Given the description of an element on the screen output the (x, y) to click on. 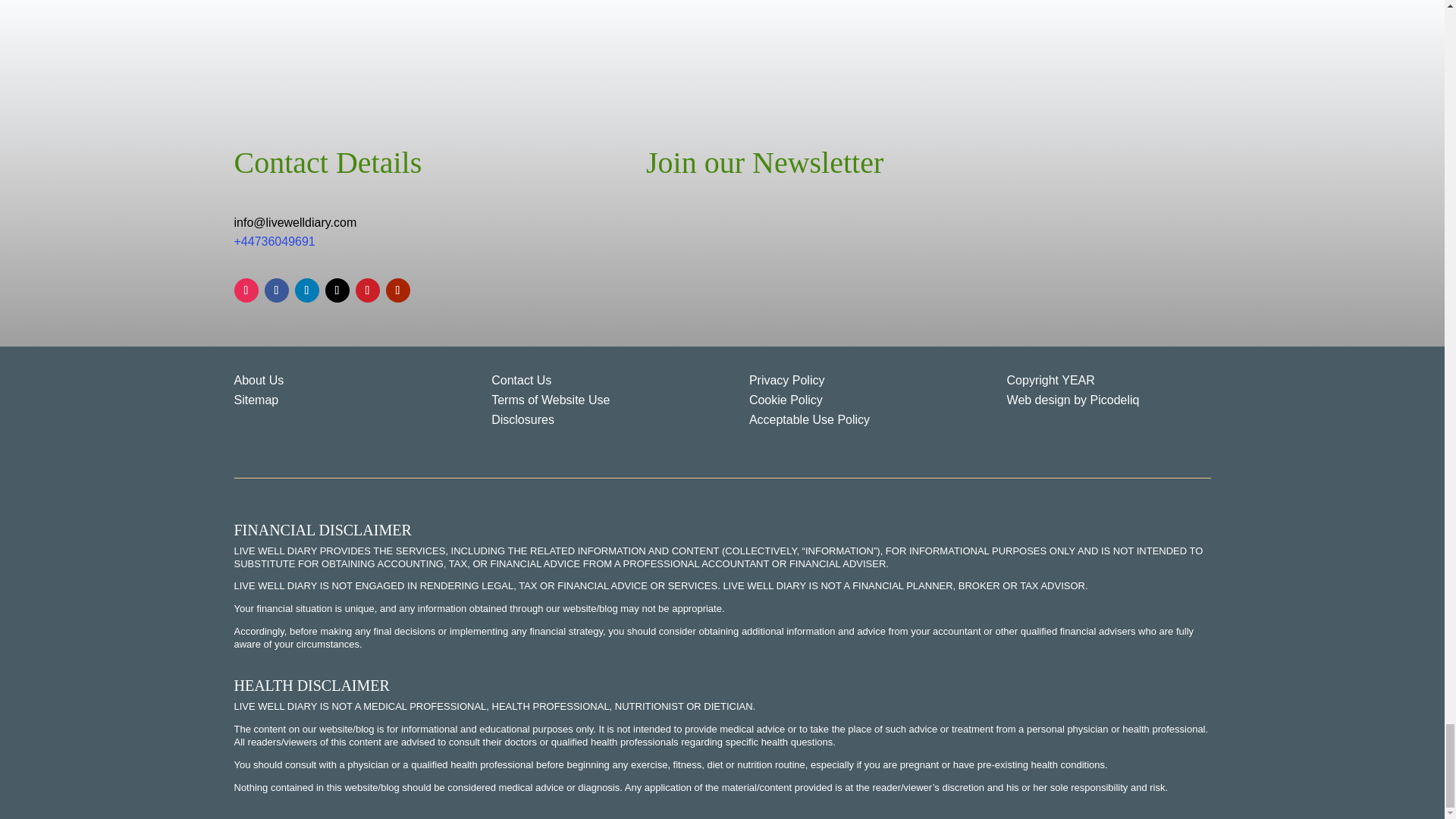
Follow on Pinterest (366, 290)
Follow on Youtube (397, 290)
Follow on Instagram (244, 290)
Follow on X (336, 290)
Follow on LinkedIn (306, 290)
Follow on Facebook (275, 290)
